Given the description of an element on the screen output the (x, y) to click on. 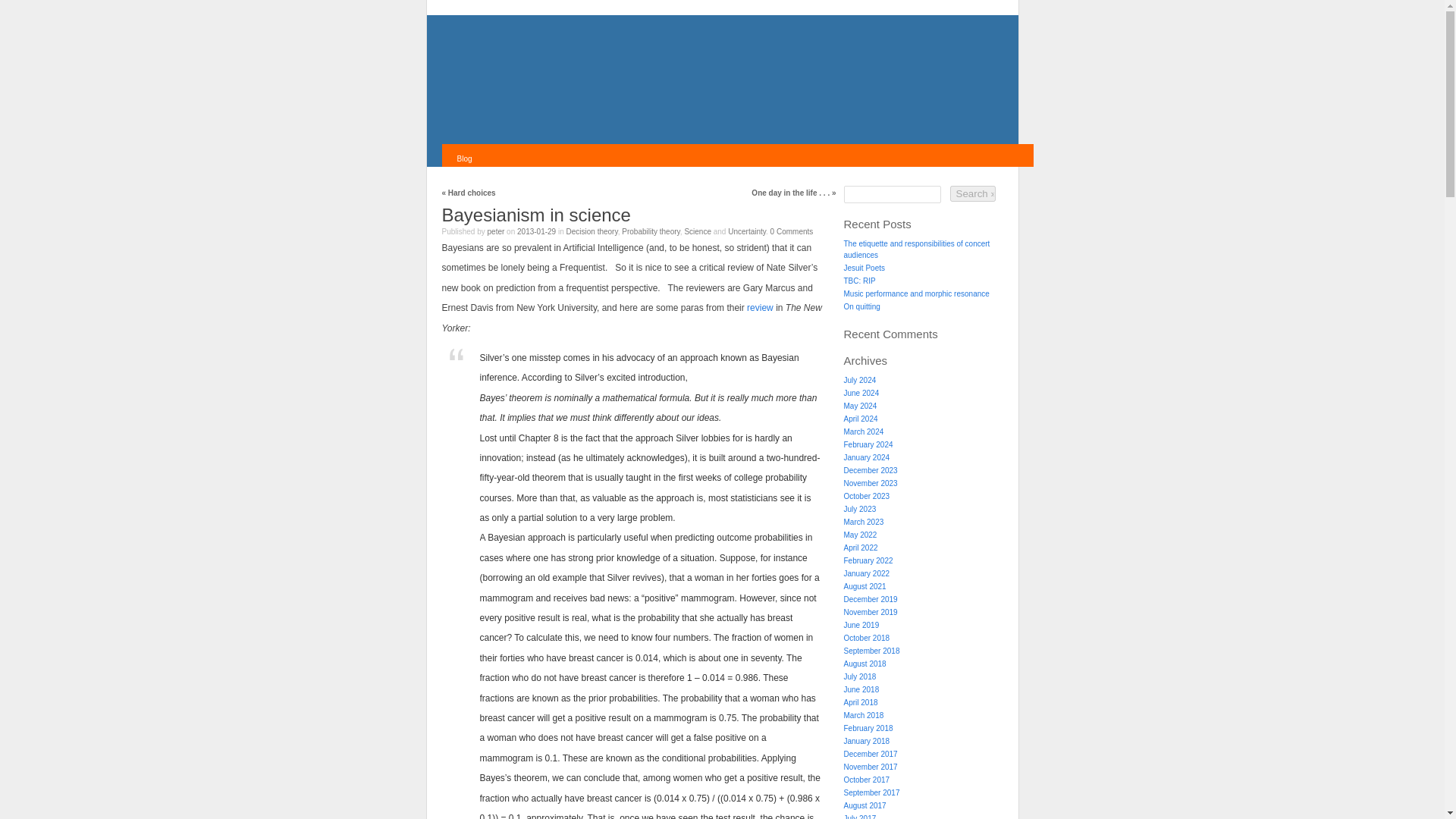
Blog (464, 159)
TBC: RIP (859, 280)
February 2024 (867, 444)
Jesuit Poets (863, 267)
View all posts in Probability theory (650, 231)
Decision theory (591, 231)
View all posts in Decision theory (591, 231)
On quitting (861, 306)
Permalink to Bayesianism in science (535, 214)
peter (496, 231)
